Given the description of an element on the screen output the (x, y) to click on. 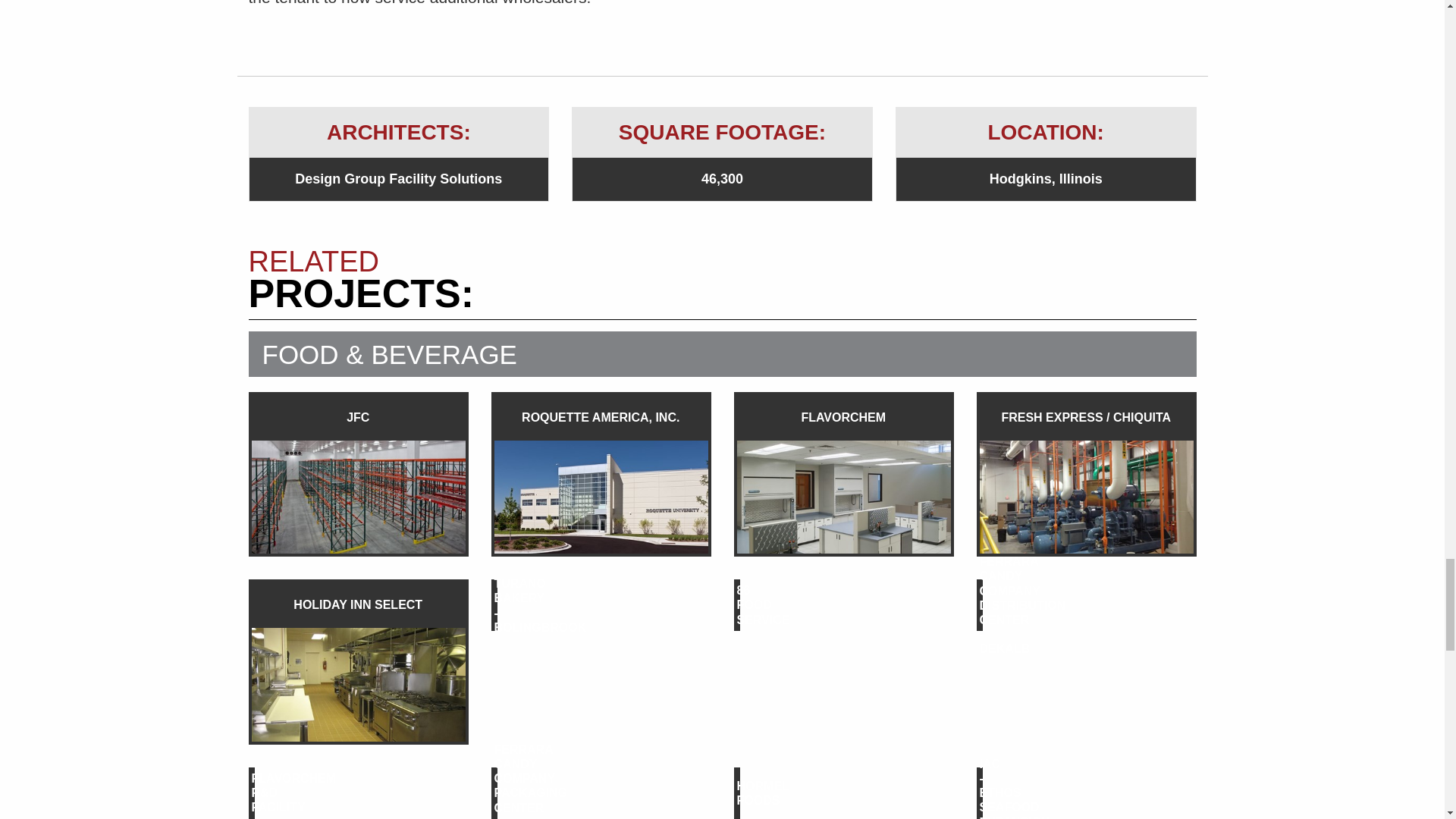
ROQUETTE AMERICA, INC. (601, 474)
FLAVORCHEM (843, 474)
HOLIDAY INN SELECT (358, 662)
JFC (358, 474)
